Given the description of an element on the screen output the (x, y) to click on. 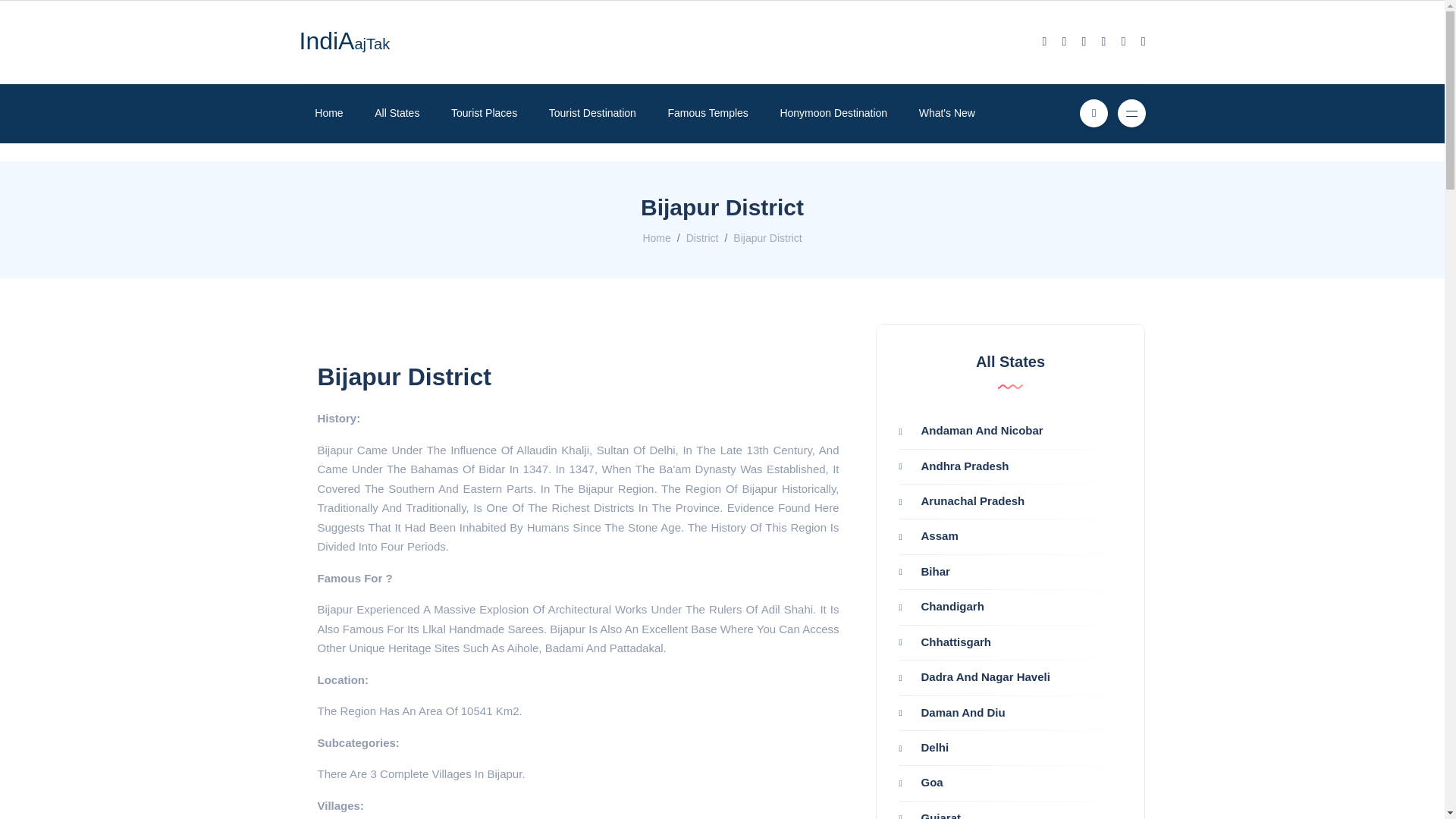
District (702, 237)
Home (655, 237)
Honymoon Destination (833, 113)
All States (396, 113)
Famous Temples (708, 113)
Home (328, 113)
Tourist Destination (592, 113)
What'S New (946, 113)
Tourist Places (483, 113)
IndiAAjTak (344, 44)
